Given the description of an element on the screen output the (x, y) to click on. 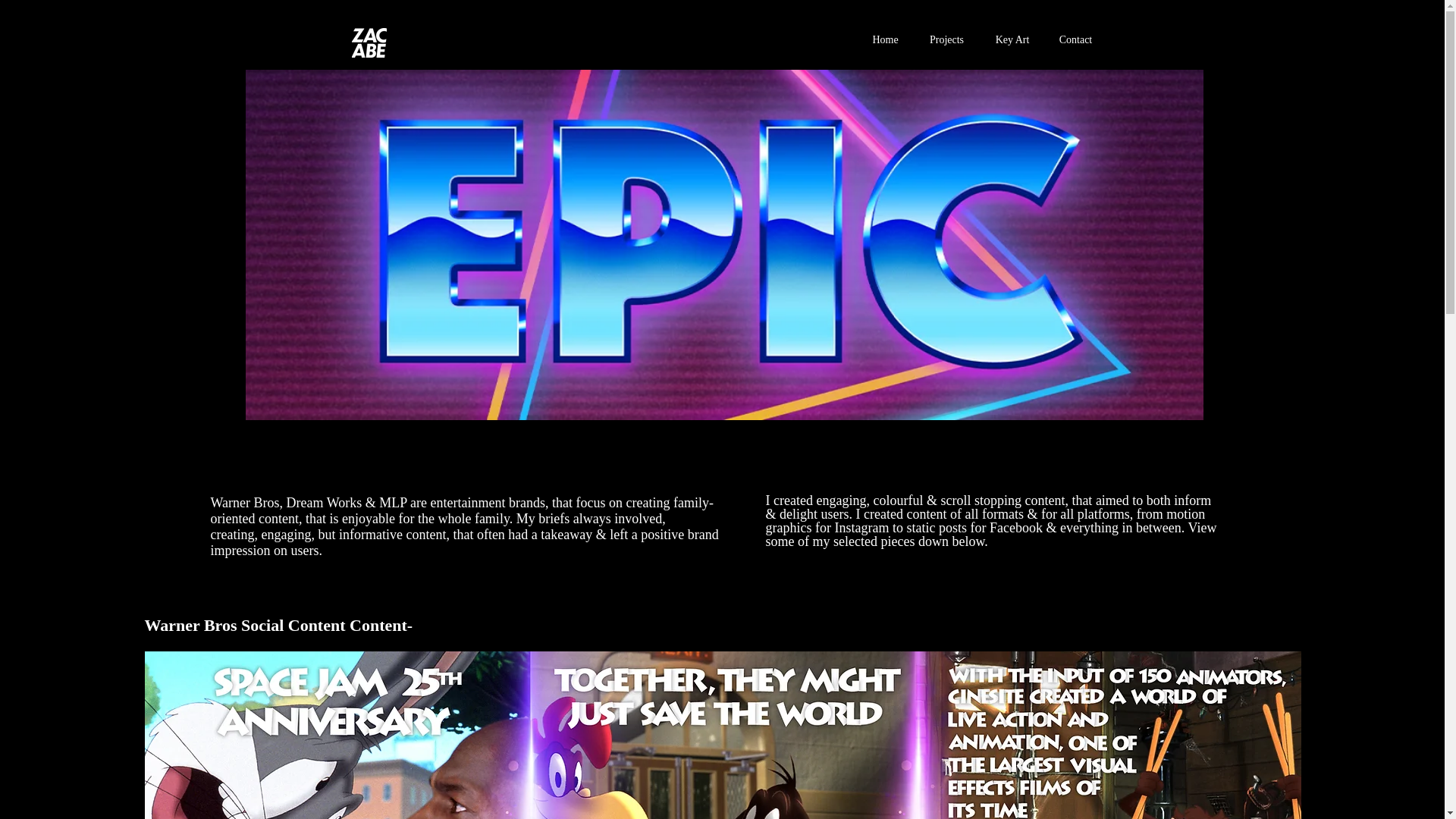
Key Art (1012, 40)
Home (885, 40)
Projects (946, 40)
Contact (1074, 40)
